Given the description of an element on the screen output the (x, y) to click on. 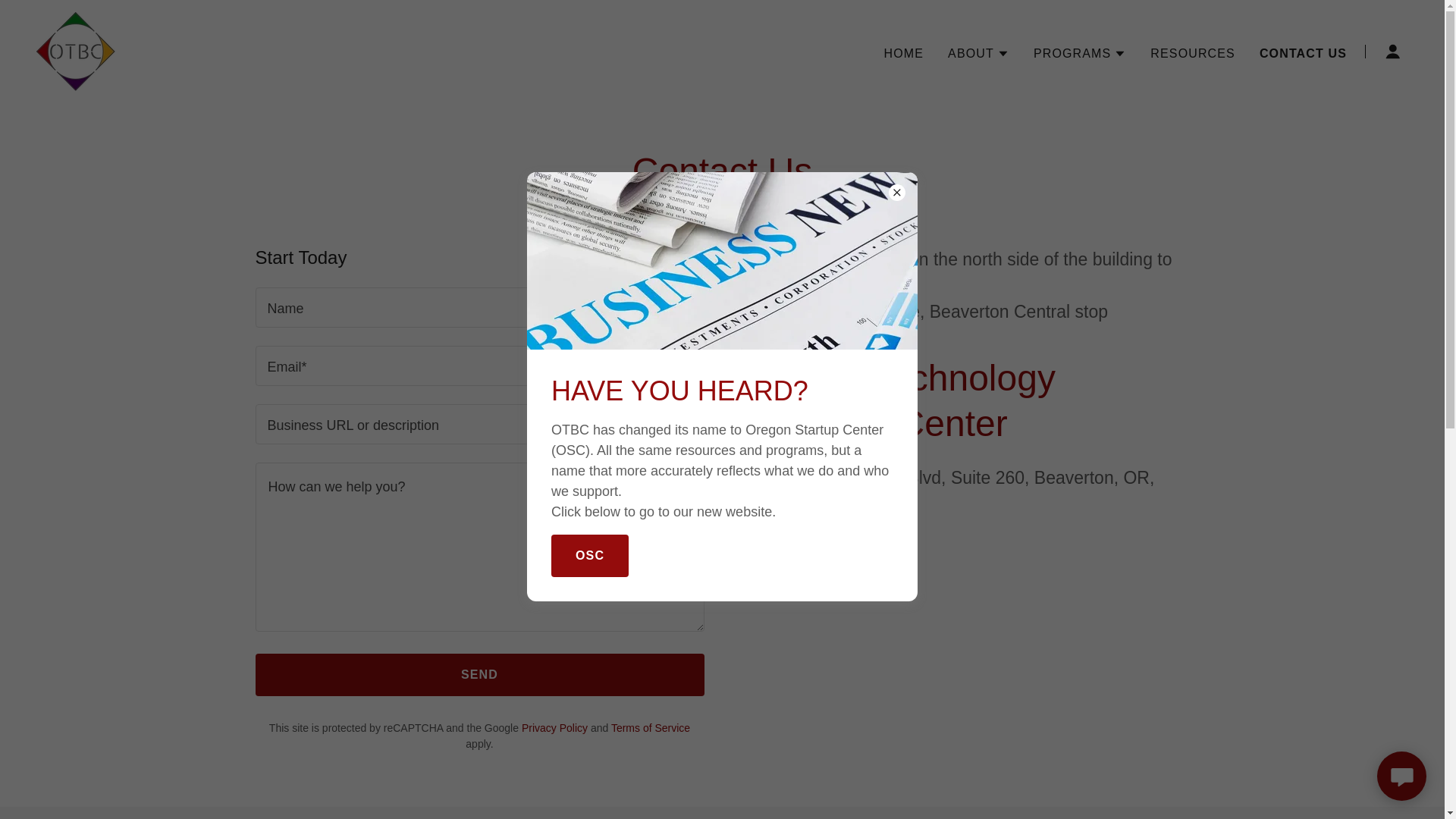
ABOUT (978, 53)
PROGRAMS (1079, 53)
Oregon Technology Business Center (76, 50)
CONTACT US (1302, 53)
HOME (903, 52)
RESOURCES (1192, 52)
